Given the description of an element on the screen output the (x, y) to click on. 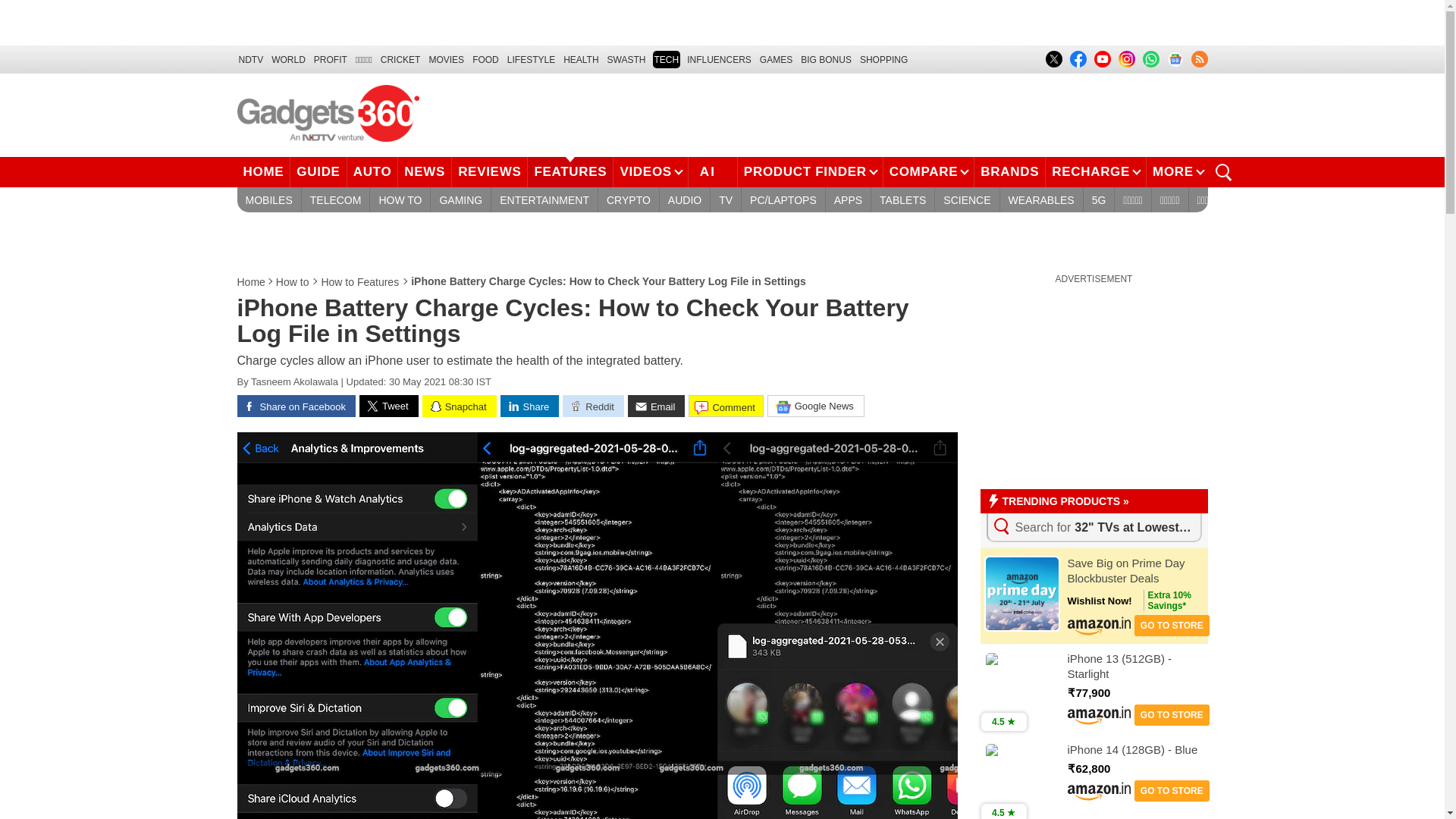
NEWS (424, 172)
SWASTH (626, 58)
FOOD (485, 58)
MOVIES (445, 58)
MOVIES (445, 58)
GUIDE (317, 172)
Games (775, 58)
World (288, 58)
LIFESTYLE (530, 58)
CRICKET (400, 58)
SHOPPING (883, 58)
REVIEWS (489, 172)
HOME (262, 172)
RSS (1199, 58)
NDTV (249, 58)
